Given the description of an element on the screen output the (x, y) to click on. 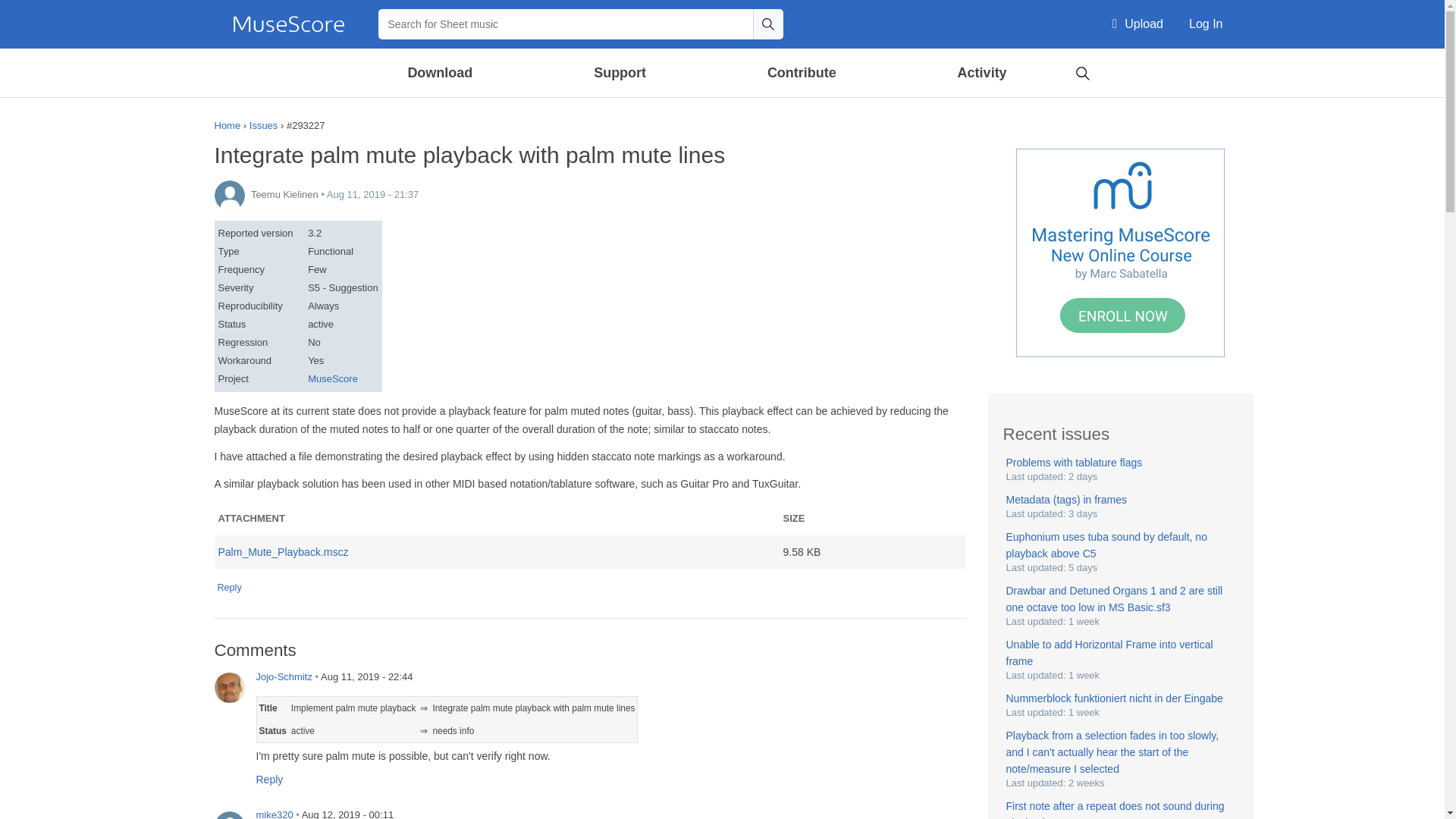
Search (767, 24)
Upload (1137, 24)
Teemu Kielinen (229, 195)
Search (1082, 71)
Search (767, 24)
Download (440, 72)
Contribute (801, 72)
Log In (1205, 24)
MuseScore (287, 23)
Activity (981, 72)
Support (619, 72)
Home (287, 23)
mike320 (229, 815)
Jojo-Schmitz (229, 687)
